Given the description of an element on the screen output the (x, y) to click on. 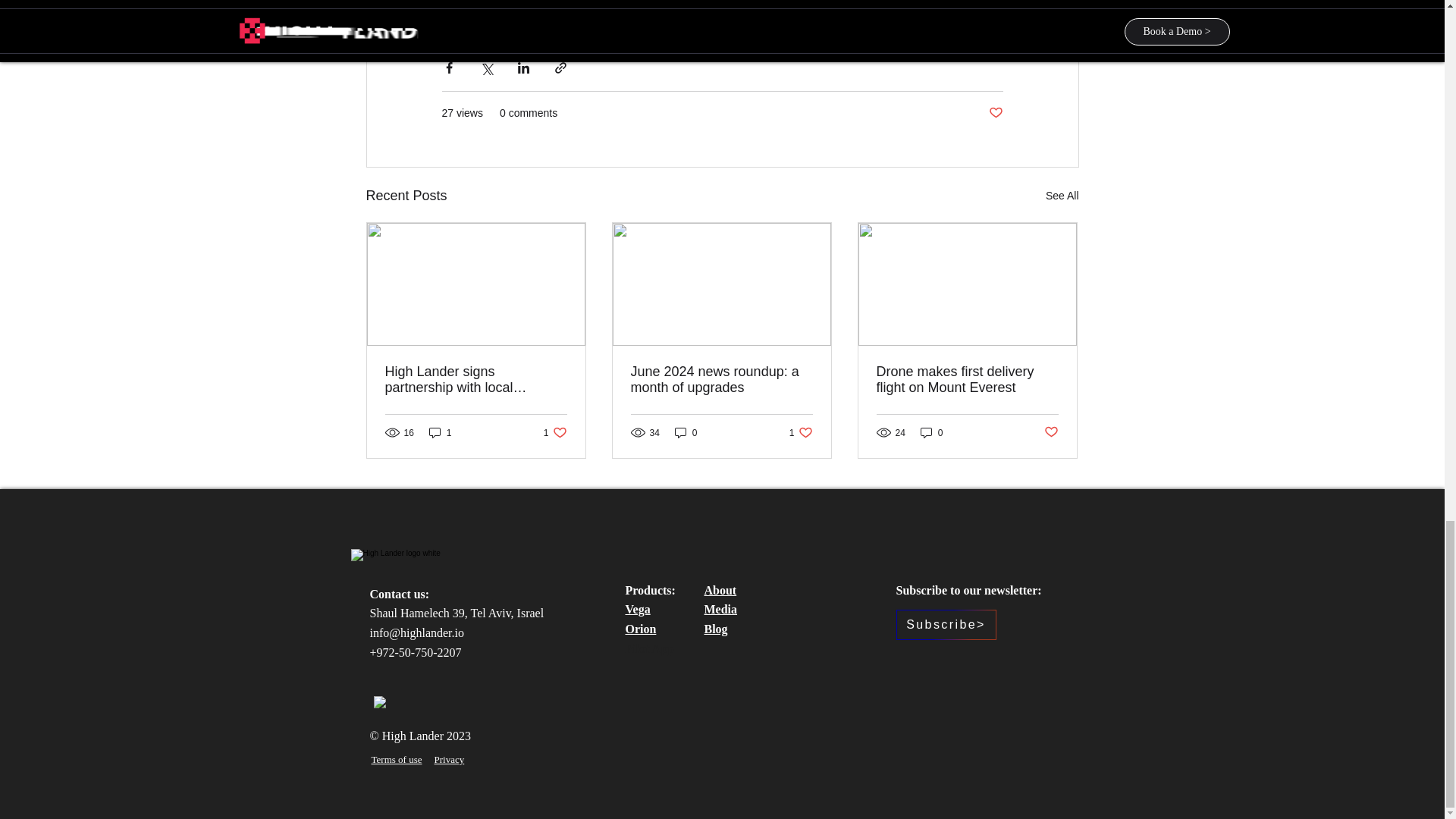
0 (685, 432)
0 (931, 432)
See All (1061, 196)
Terms of use (396, 758)
Drone makes first delivery flight on Mount Everest (967, 379)
1 (648, 638)
Vega (440, 432)
Post not marked as liked (636, 608)
Post not marked as liked (800, 432)
Privacy (555, 432)
June 2024 news roundup: a month of upgrades (1050, 432)
